Given the description of an element on the screen output the (x, y) to click on. 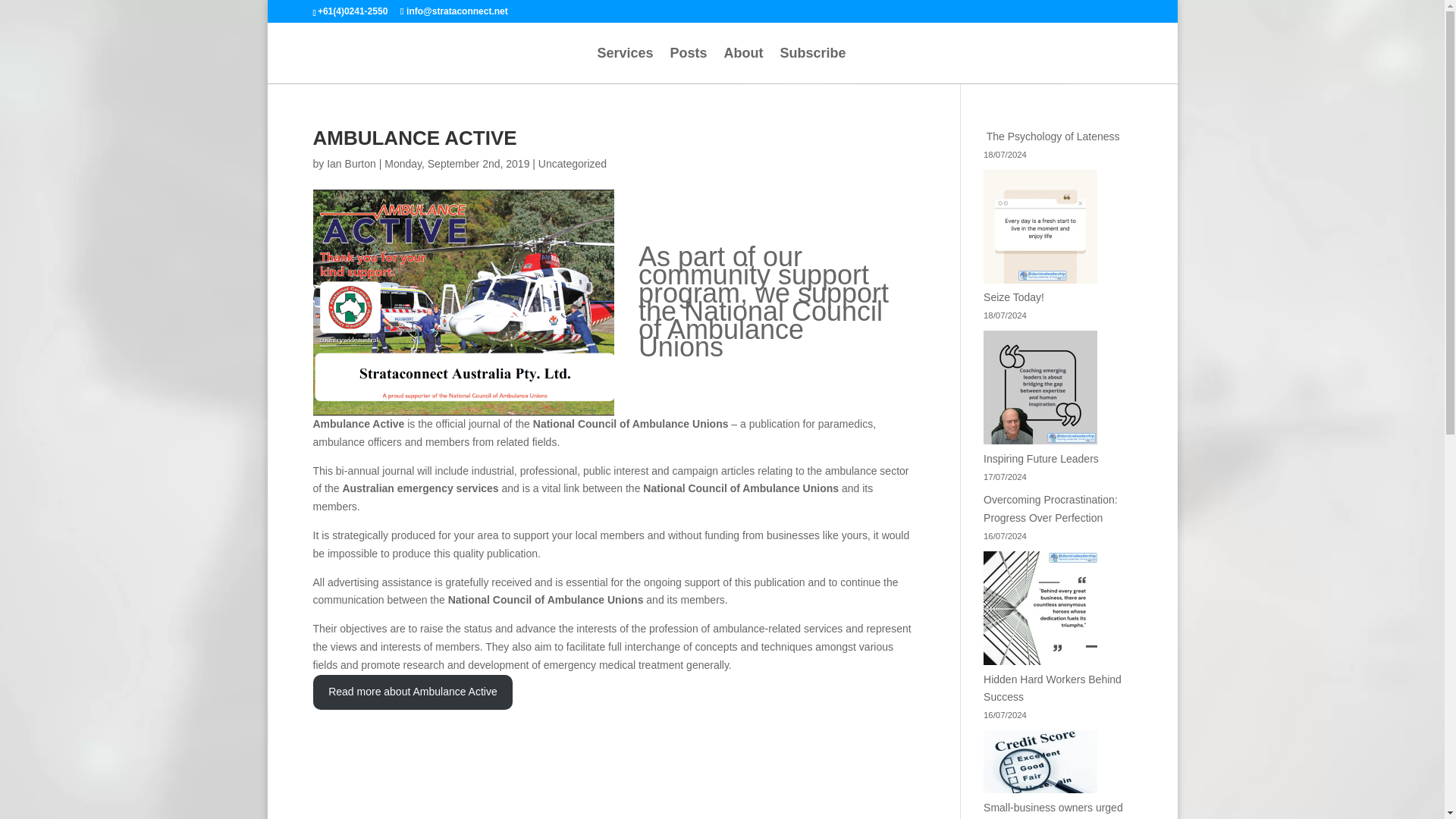
Seize Today! (1013, 297)
Posts by Ian Burton (350, 163)
Services (624, 65)
Inspiring Future Leaders (1041, 458)
Ian Burton (350, 163)
 The Psychology of Lateness (1051, 136)
Overcoming Procrastination: Progress Over Perfection (1051, 508)
Uncategorized (572, 163)
Posts (688, 65)
Hidden Hard Workers Behind Success (1052, 688)
About (742, 65)
Read more about Ambulance Active (412, 692)
Subscribe (812, 65)
AMBULANCE ACTIVE (414, 137)
